Given the description of an element on the screen output the (x, y) to click on. 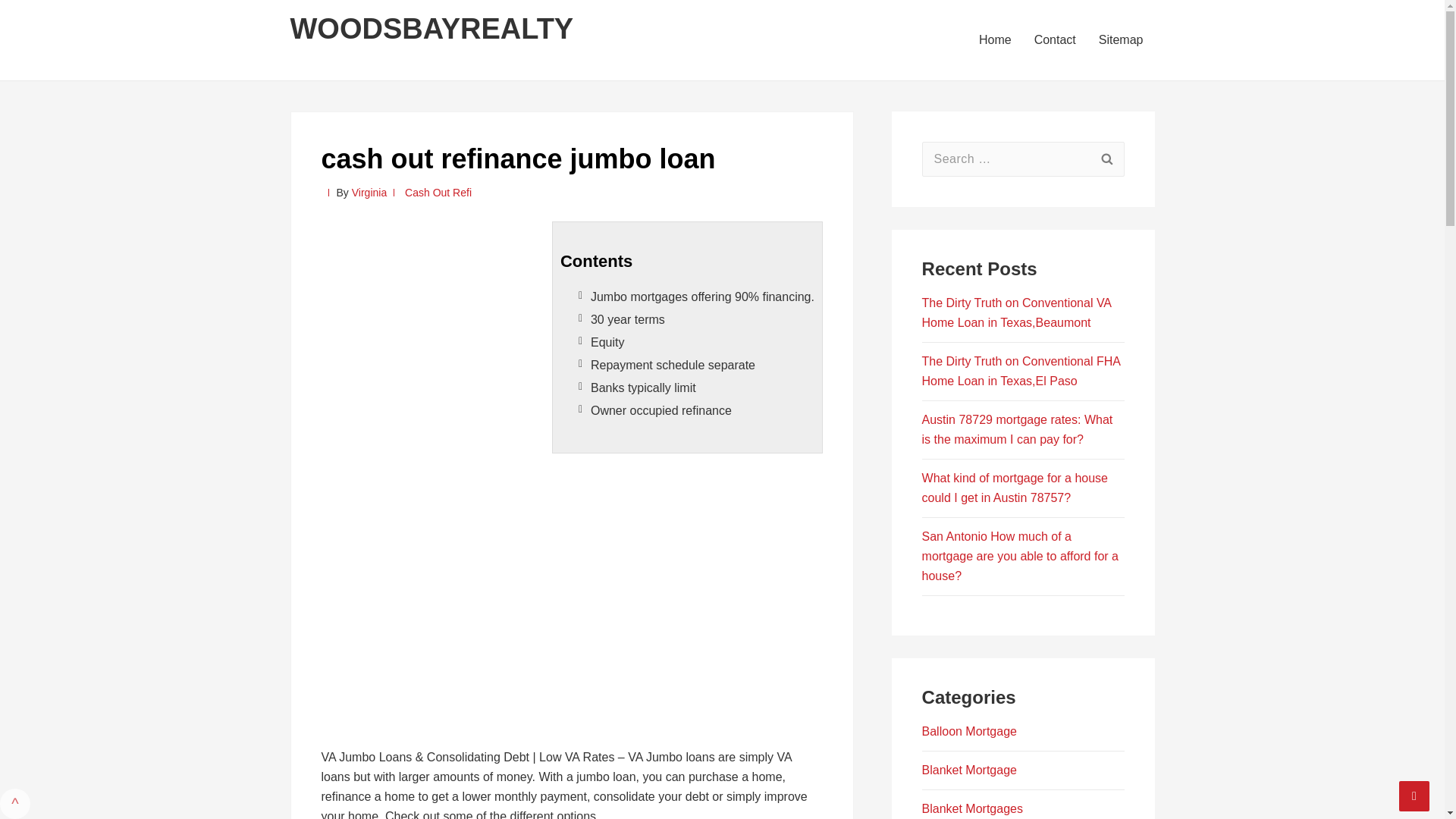
Search (1106, 158)
Owner occupied refinance (661, 410)
Banks typically limit (643, 387)
30 year terms (628, 318)
View all posts by Virginia (369, 192)
Virginia (369, 192)
Search (1106, 158)
Blanket Mortgage (968, 769)
